Given the description of an element on the screen output the (x, y) to click on. 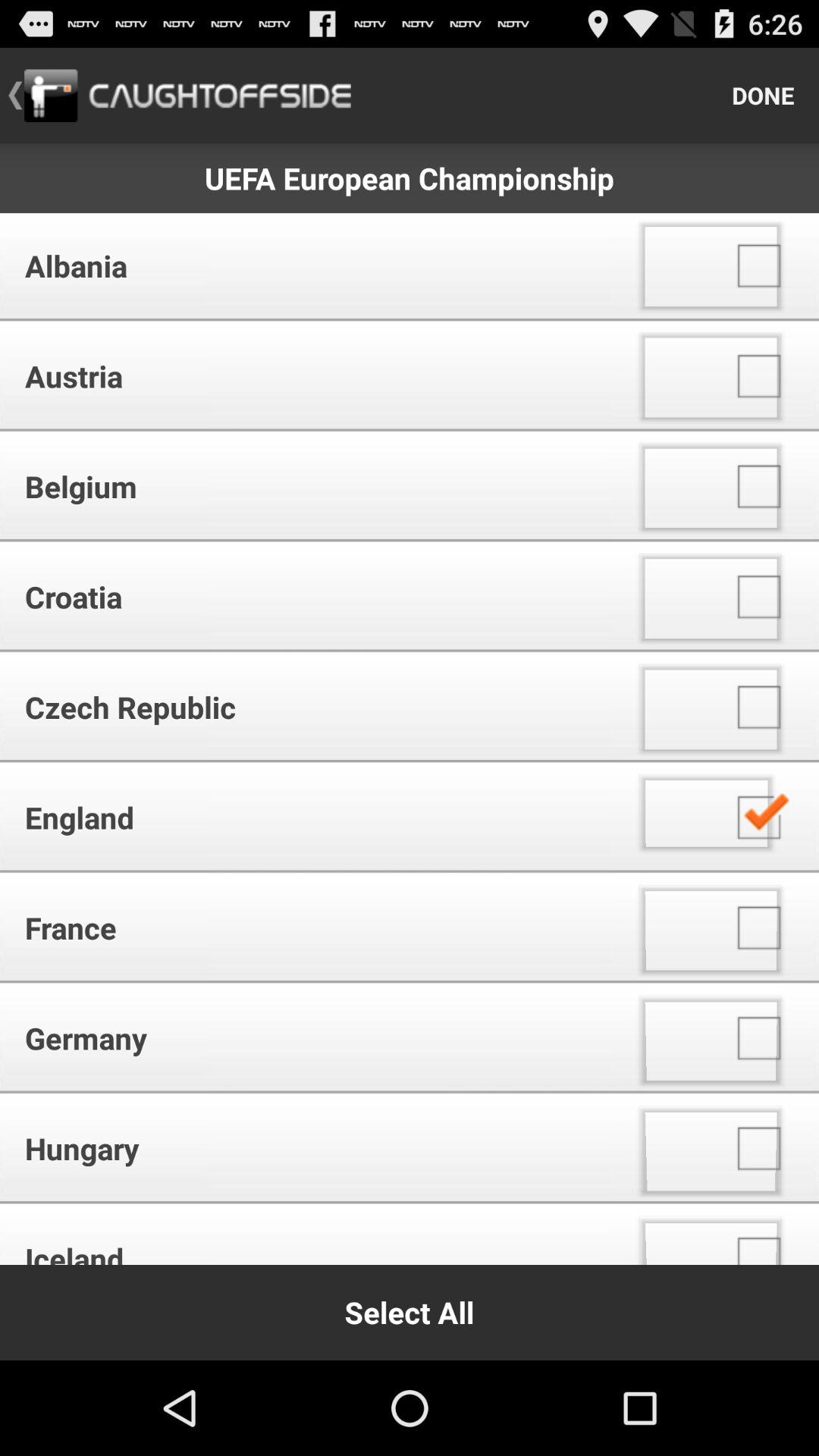
select the belgium item (311, 486)
